Given the description of an element on the screen output the (x, y) to click on. 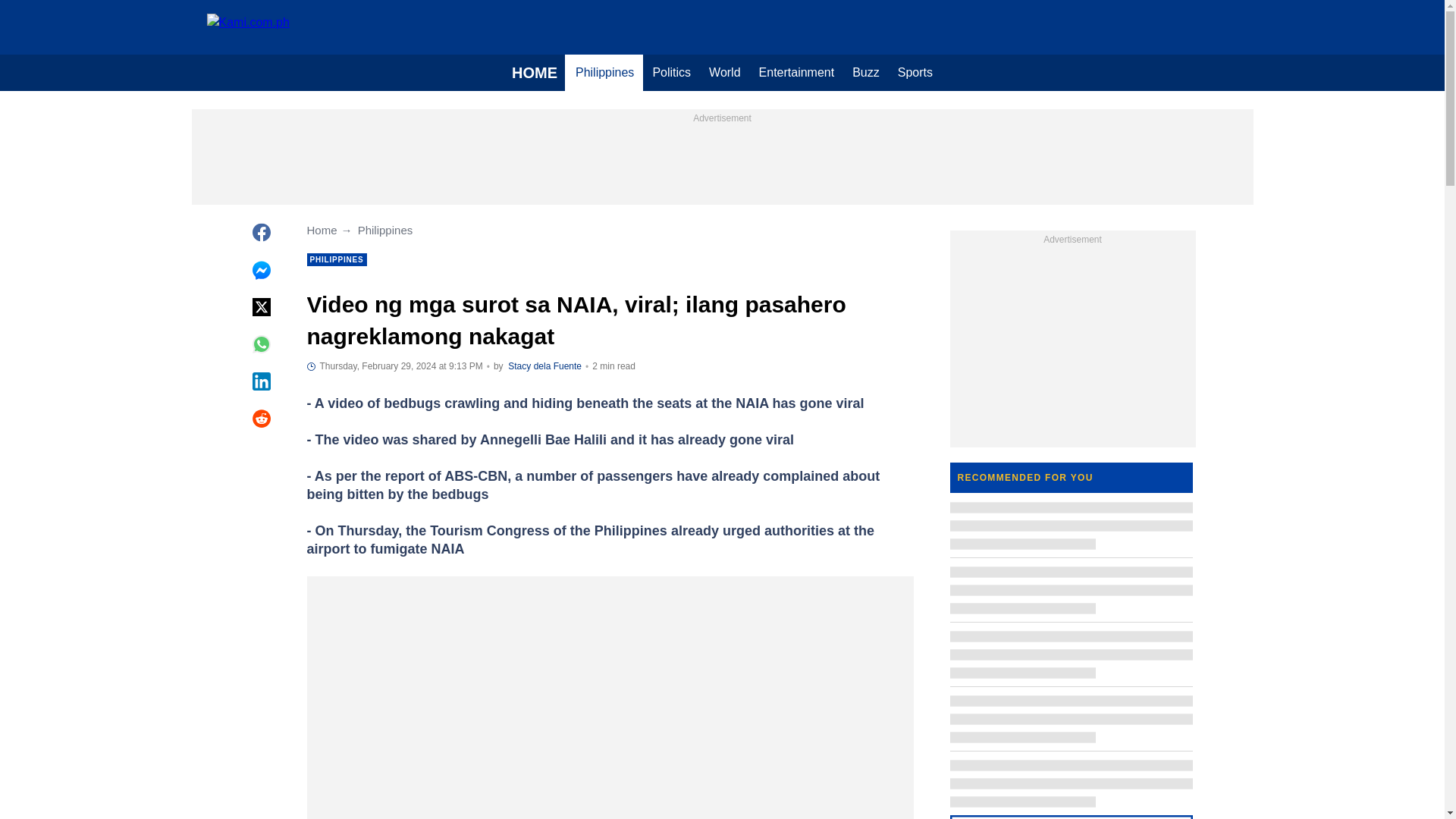
Politics (671, 72)
Sports (915, 72)
Author page (544, 366)
Entertainment (796, 72)
Buzz (865, 72)
World (724, 72)
HOME (534, 72)
Philippines (604, 72)
